Given the description of an element on the screen output the (x, y) to click on. 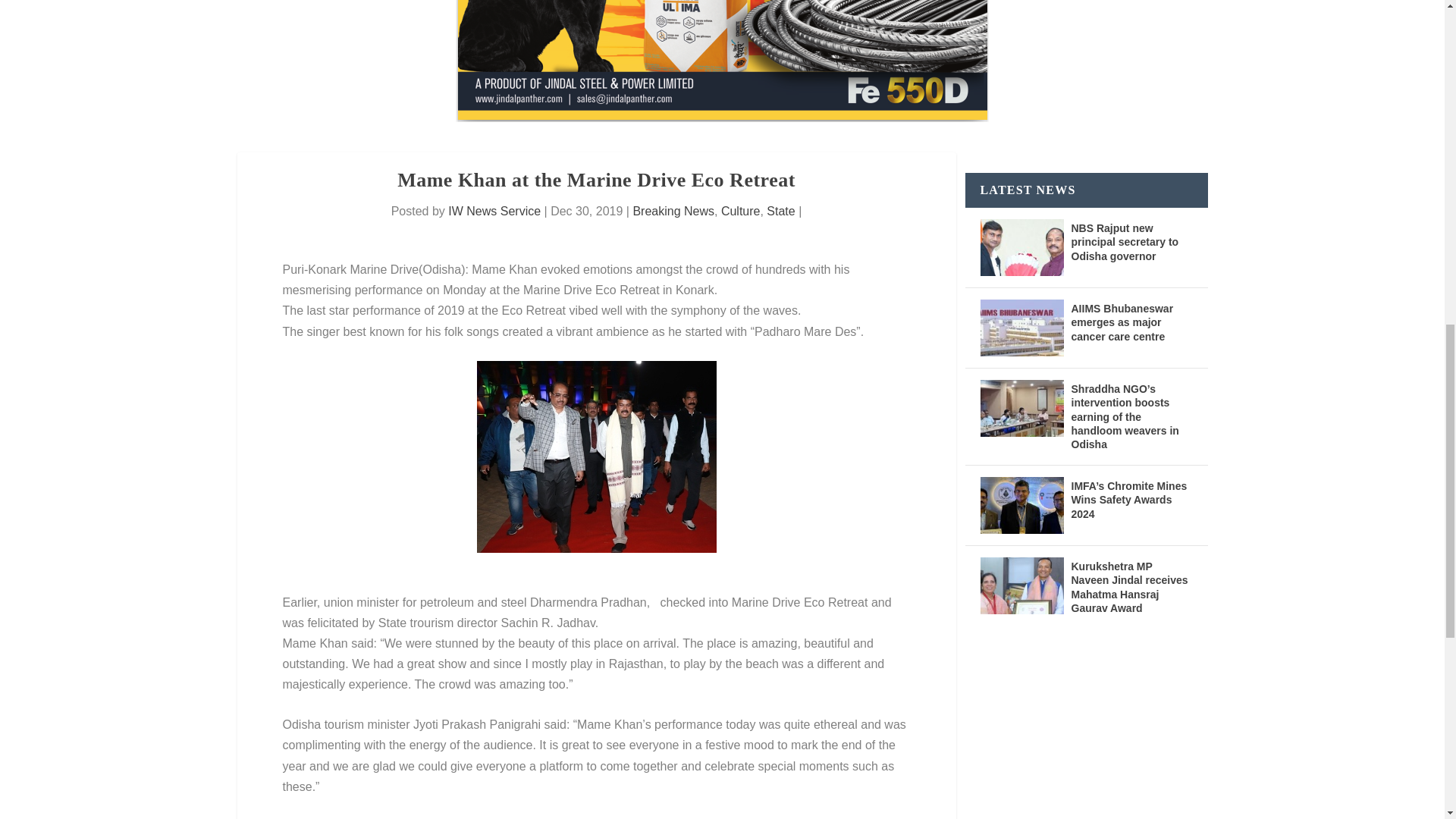
Posts by IW News Service (494, 210)
AIIMS Bhubaneswar emerges as major cancer care centre (1020, 327)
NBS Rajput new principal secretary to Odisha governor (1020, 247)
